Given the description of an element on the screen output the (x, y) to click on. 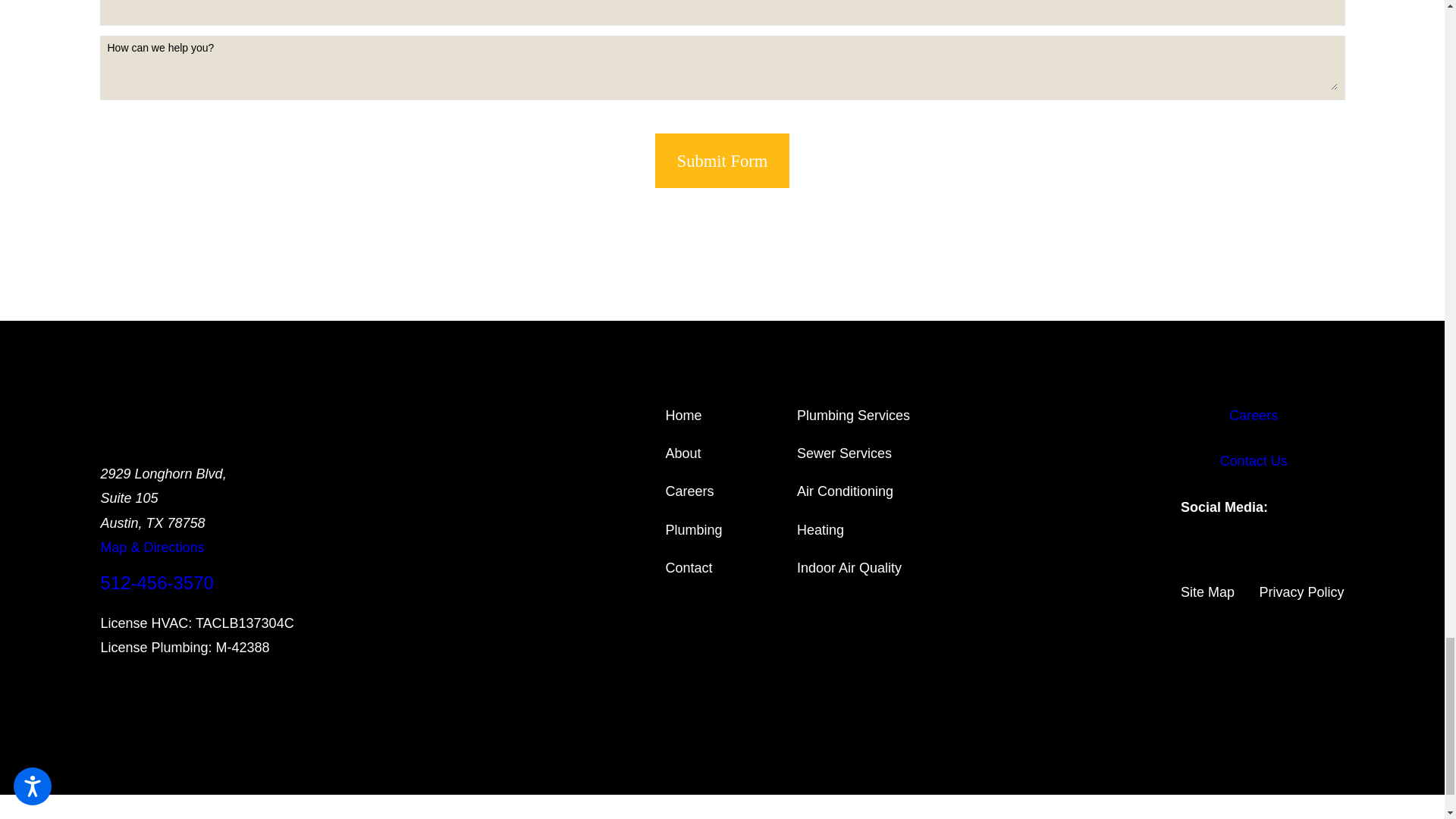
Instagram (1210, 560)
Facebook (1186, 560)
Google Business Profile (1233, 560)
